Given the description of an element on the screen output the (x, y) to click on. 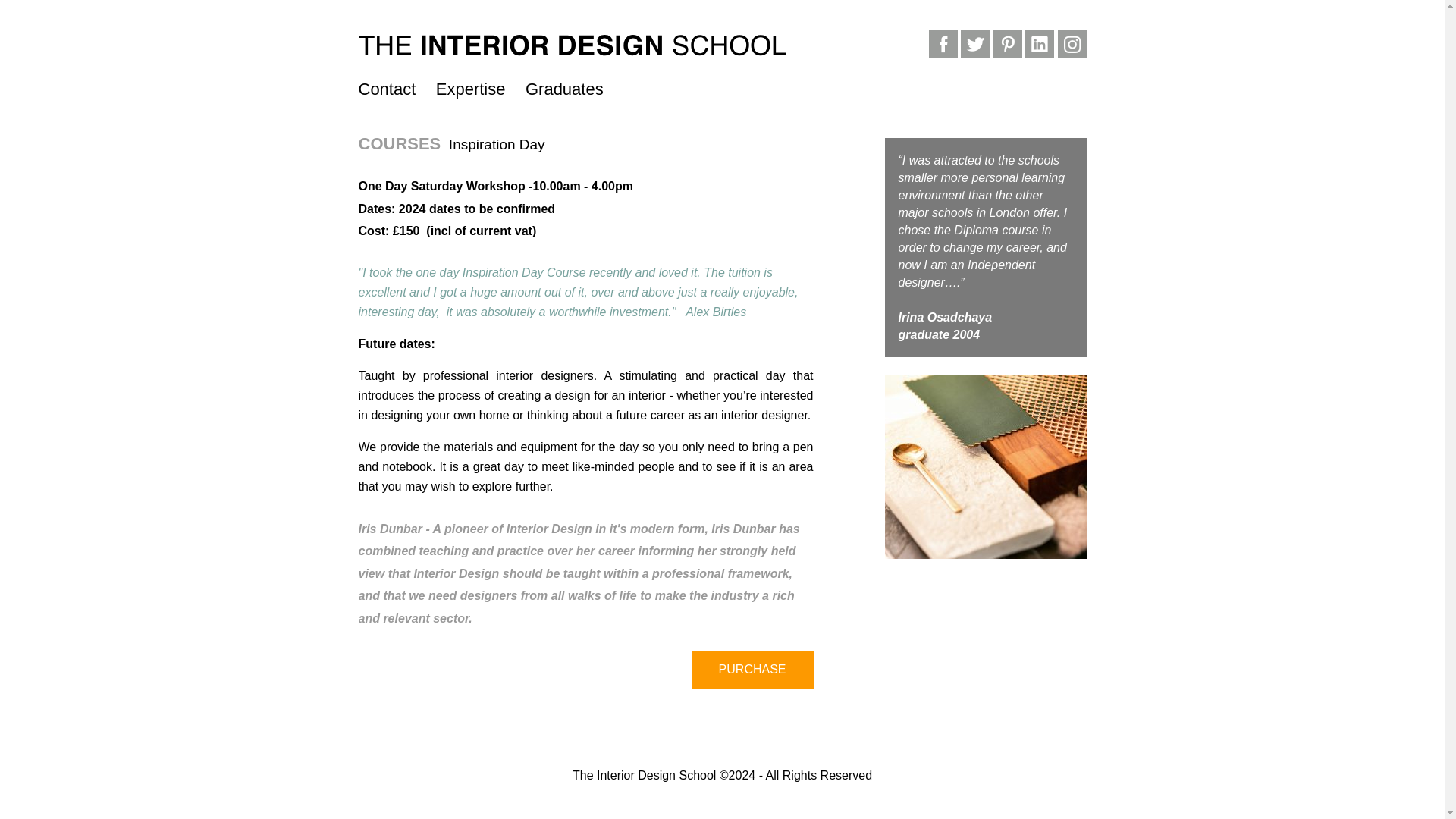
COURSES (399, 143)
THE INTERIOR DESIGN SCHOOL (453, 58)
THE INTERIOR DESIGN SCHOOL (453, 58)
Graduates (564, 88)
Expertise (470, 88)
Skip to content (762, 86)
PURCHASE (752, 669)
Contact (386, 88)
Skip to content (762, 86)
